Given the description of an element on the screen output the (x, y) to click on. 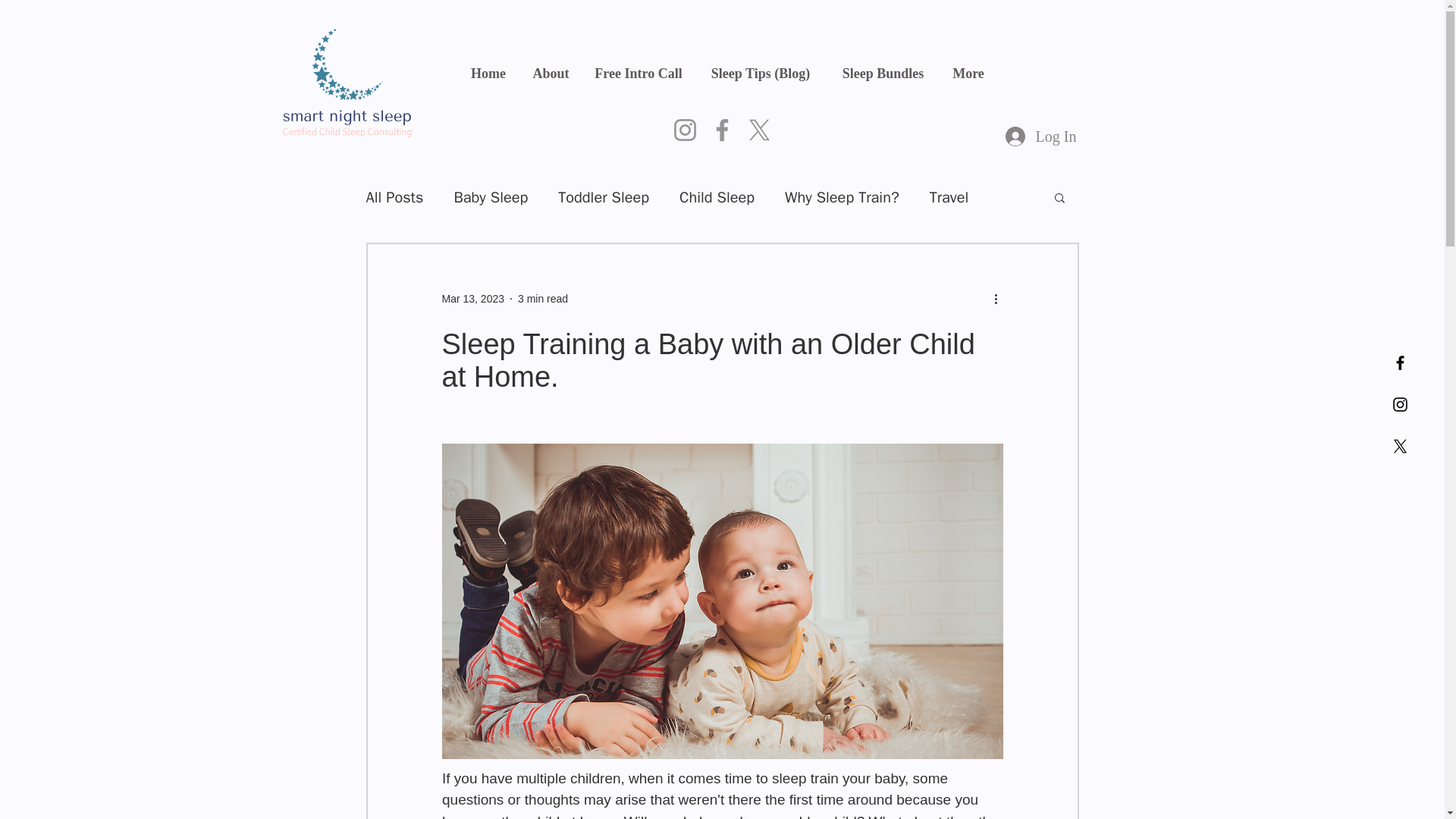
Home (488, 73)
3 min read (542, 298)
Sleep Bundles (883, 73)
Baby Sleep (489, 196)
Toddler Sleep (603, 196)
Travel (949, 196)
Embedded Content (721, 83)
Child Sleep (716, 196)
Embedded Content (20, 796)
Why Sleep Train? (841, 196)
